Given the description of an element on the screen output the (x, y) to click on. 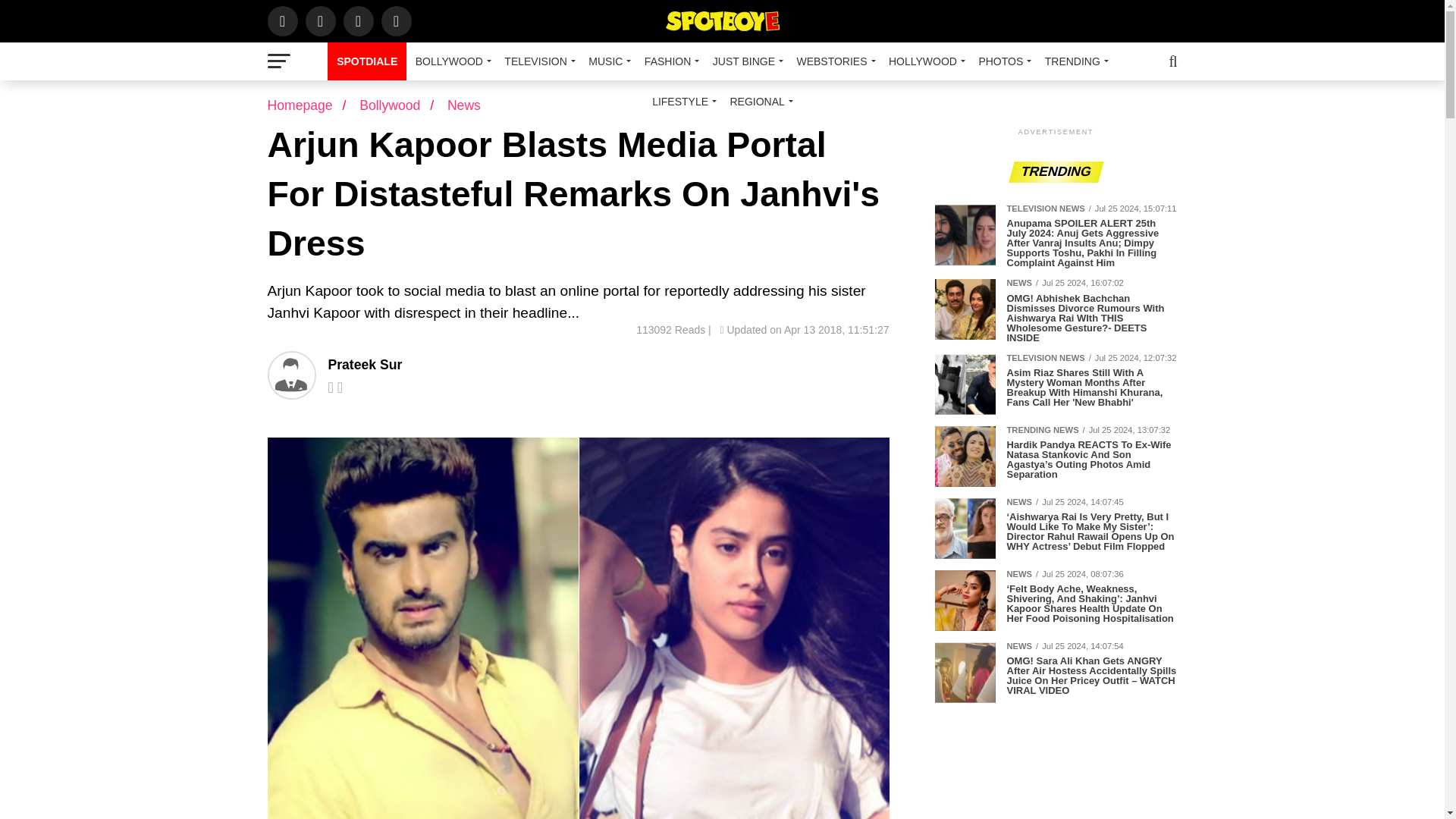
WEBSTORIES (833, 61)
LIFESTYLE (681, 101)
FASHION (668, 61)
TRENDING (1074, 61)
REGIONAL (758, 101)
BOLLYWOOD (451, 61)
JUST BINGE (745, 61)
SPOTDIALE (366, 61)
HOLLYWOOD (924, 61)
TELEVISION (537, 61)
Posts by  Prateek Sur  (364, 364)
PHOTOS (1002, 61)
MUSIC (606, 61)
